Given the description of an element on the screen output the (x, y) to click on. 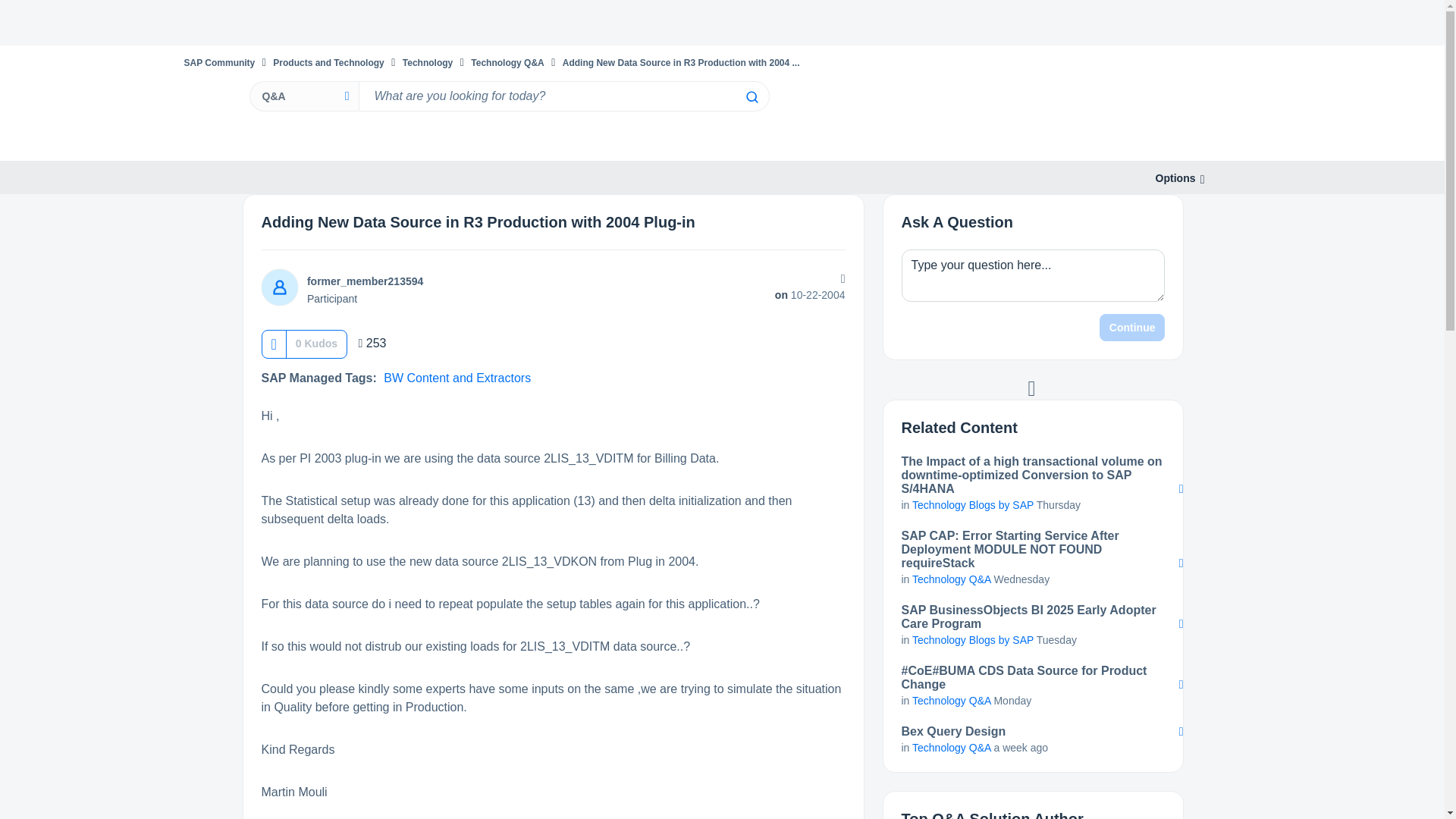
Click here to give kudos to this post. (274, 343)
Search (750, 96)
Search Granularity (303, 96)
Options (1176, 178)
Search (563, 96)
Show option menu (1176, 178)
Technology (427, 62)
SAP Community (218, 62)
Products and Technology (328, 62)
Search (750, 96)
